Given the description of an element on the screen output the (x, y) to click on. 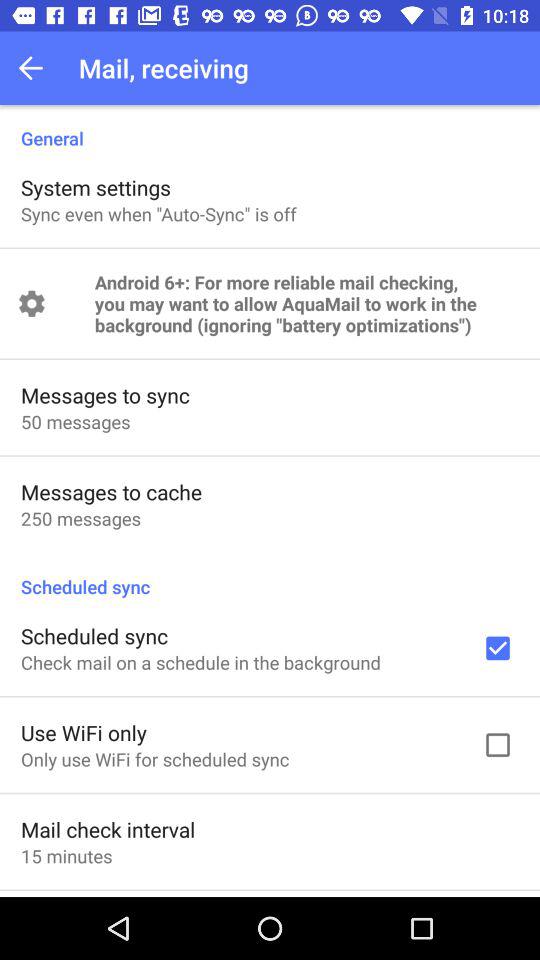
press android 6 for (306, 303)
